Given the description of an element on the screen output the (x, y) to click on. 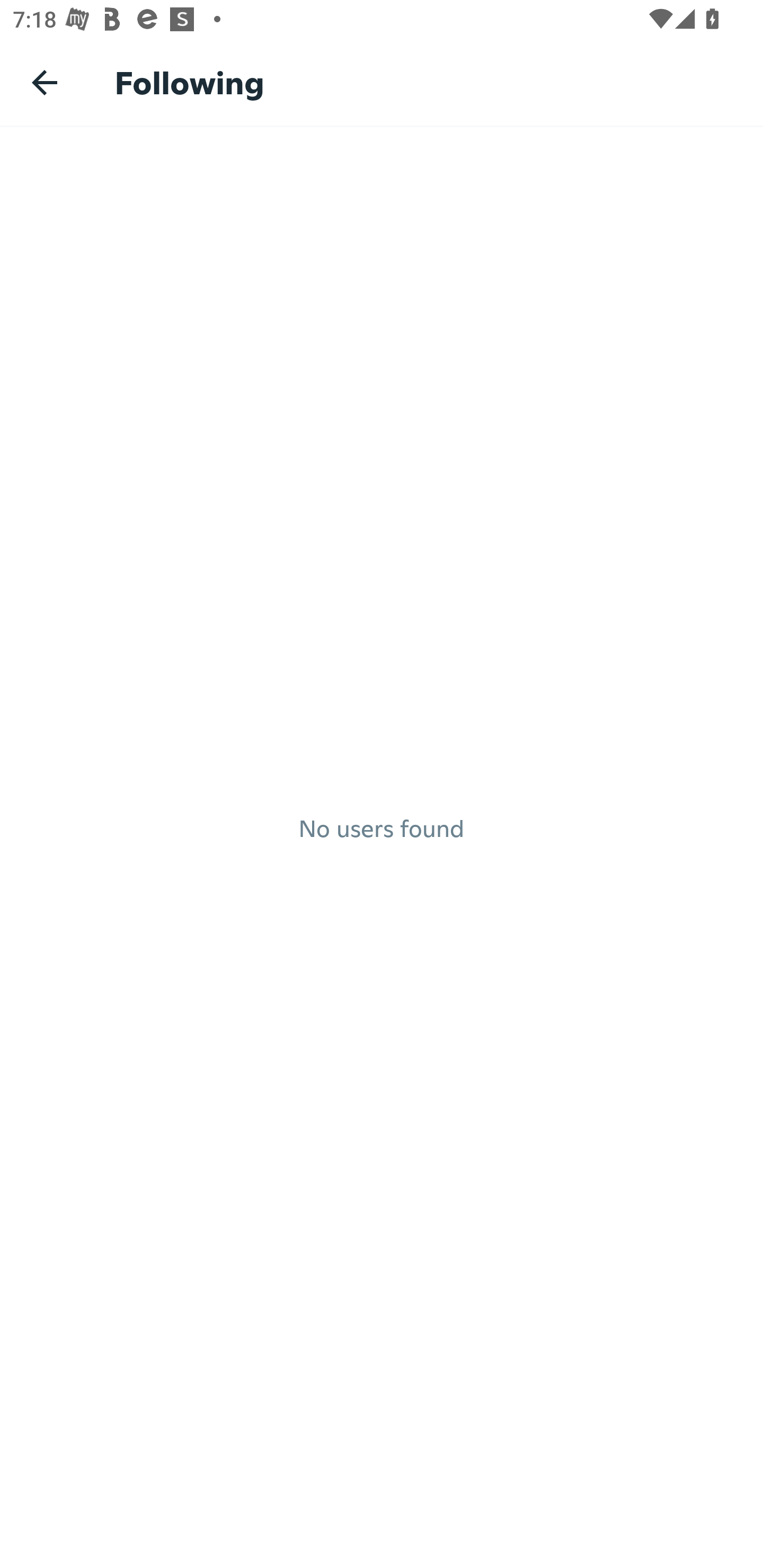
Navigate up (44, 82)
